Given the description of an element on the screen output the (x, y) to click on. 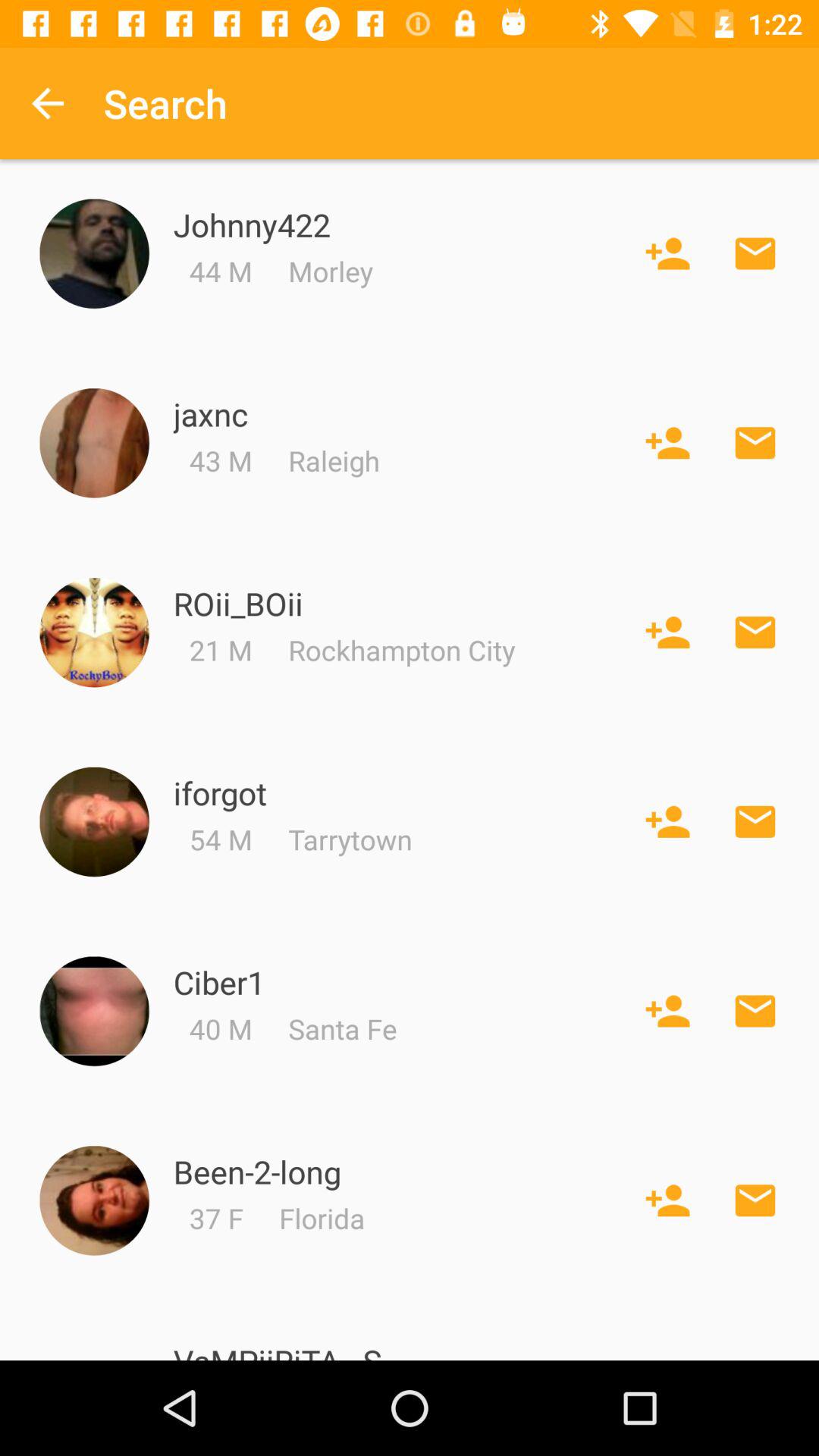
view profile (94, 443)
